Given the description of an element on the screen output the (x, y) to click on. 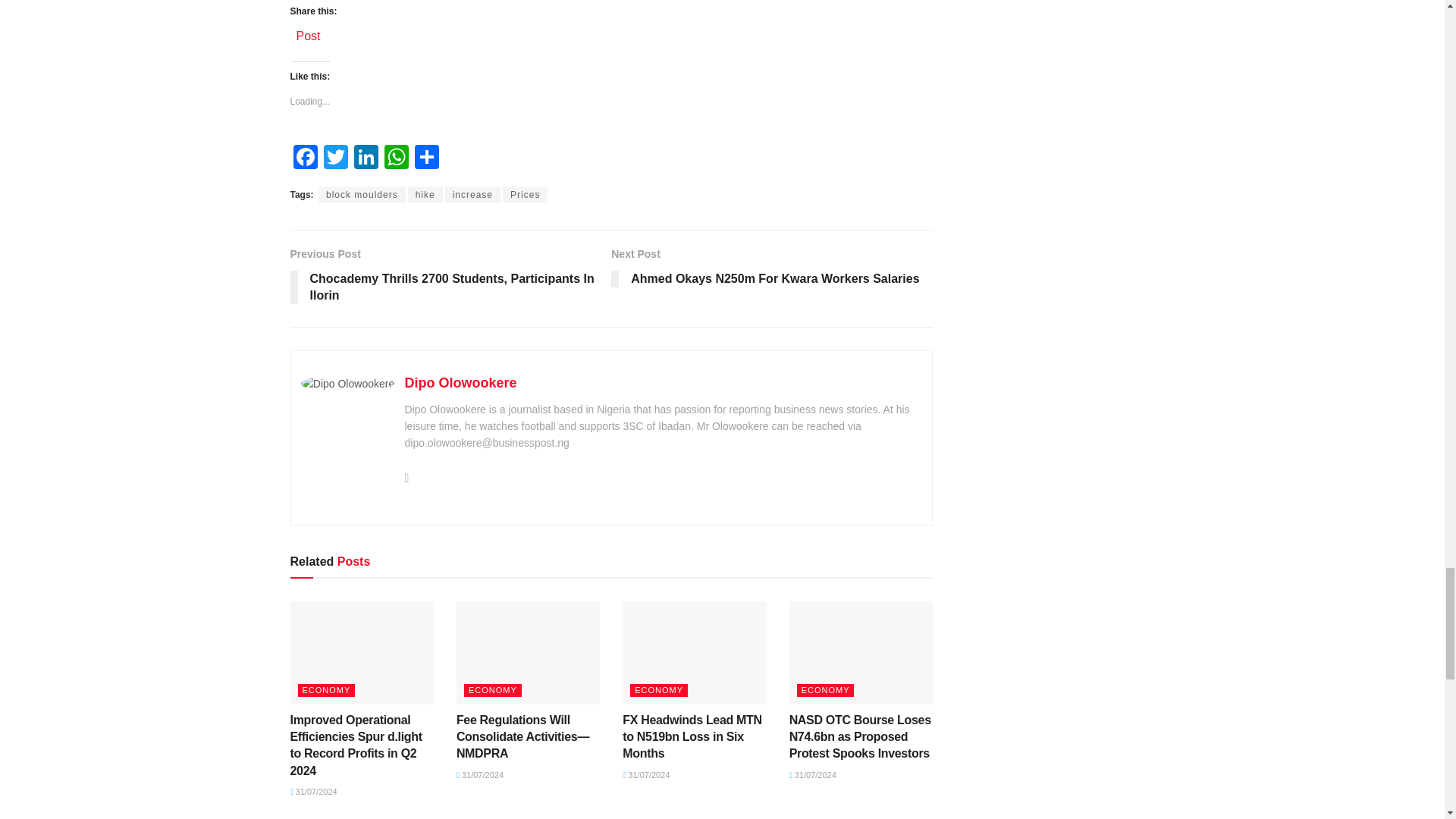
Facebook (304, 158)
LinkedIn (365, 158)
Twitter (335, 158)
WhatsApp (395, 158)
